Given the description of an element on the screen output the (x, y) to click on. 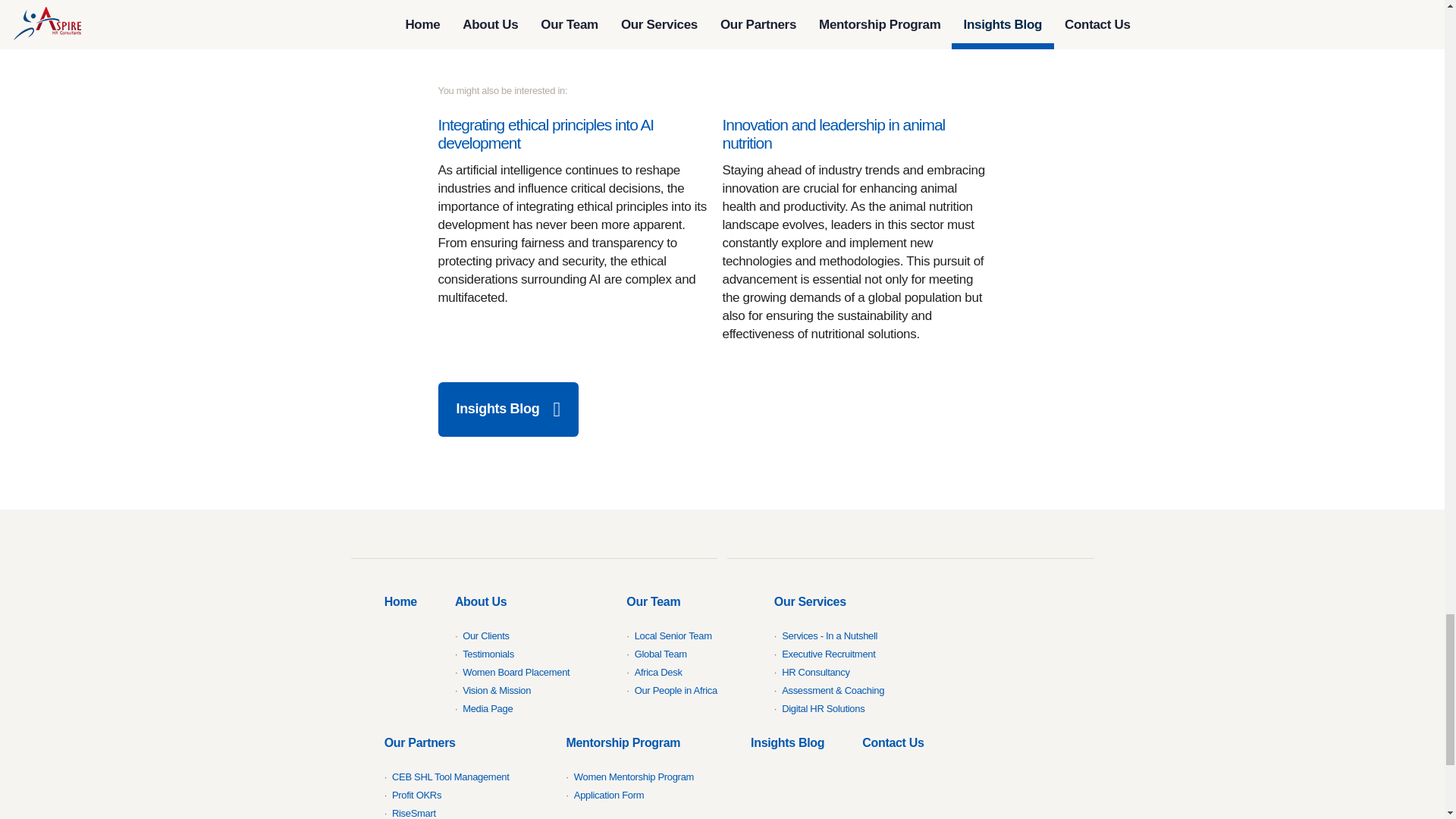
About Us (521, 653)
Our Clients (486, 635)
Home (400, 601)
Innovation and leadership in animal nutrition (833, 133)
Insights Blog (508, 409)
Integrating ethical principles into AI development (545, 133)
